Given the description of an element on the screen output the (x, y) to click on. 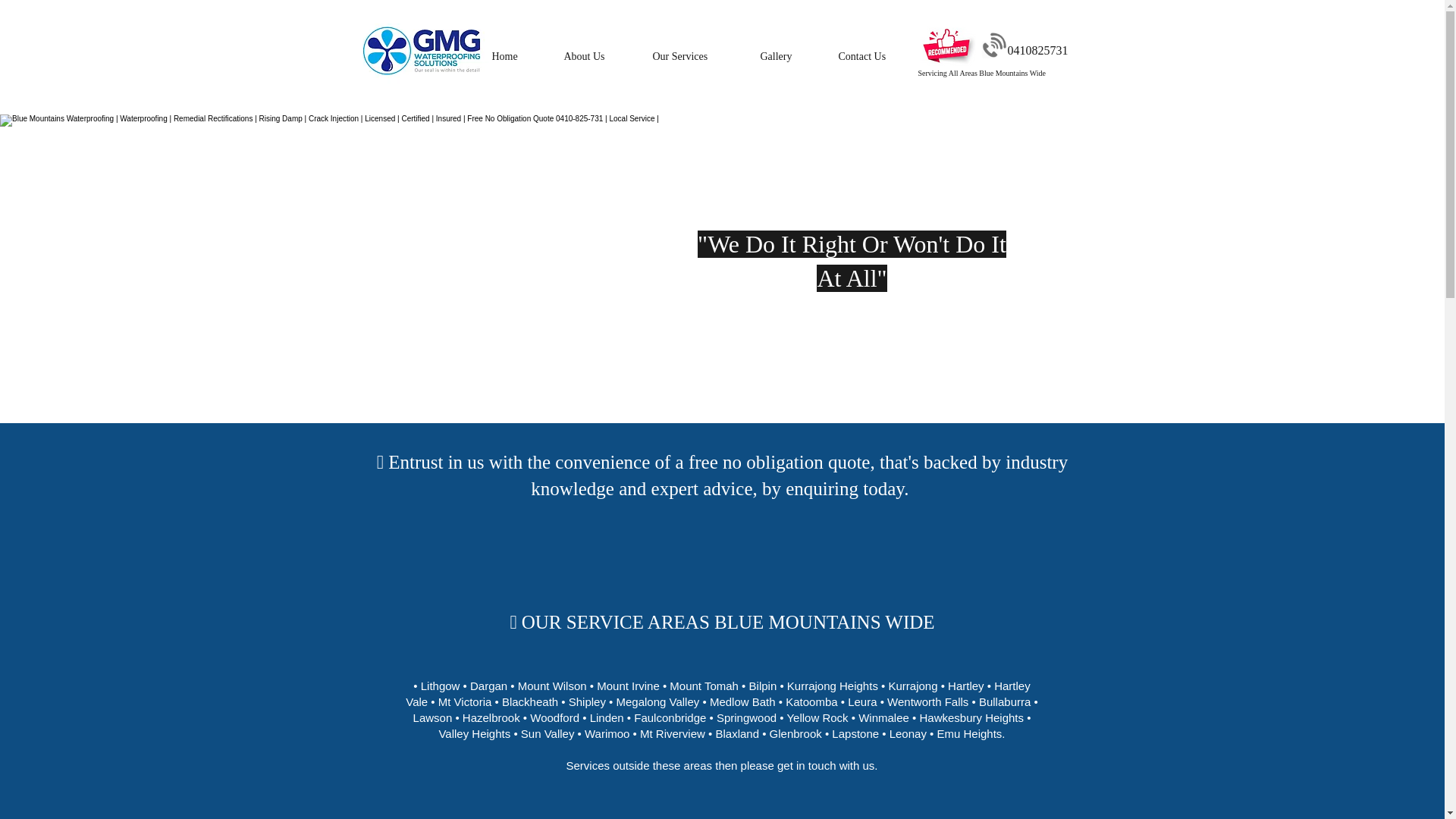
Gallery (788, 56)
Contact Us (875, 56)
About Us (595, 56)
Our Services (695, 56)
Home (516, 56)
